Given the description of an element on the screen output the (x, y) to click on. 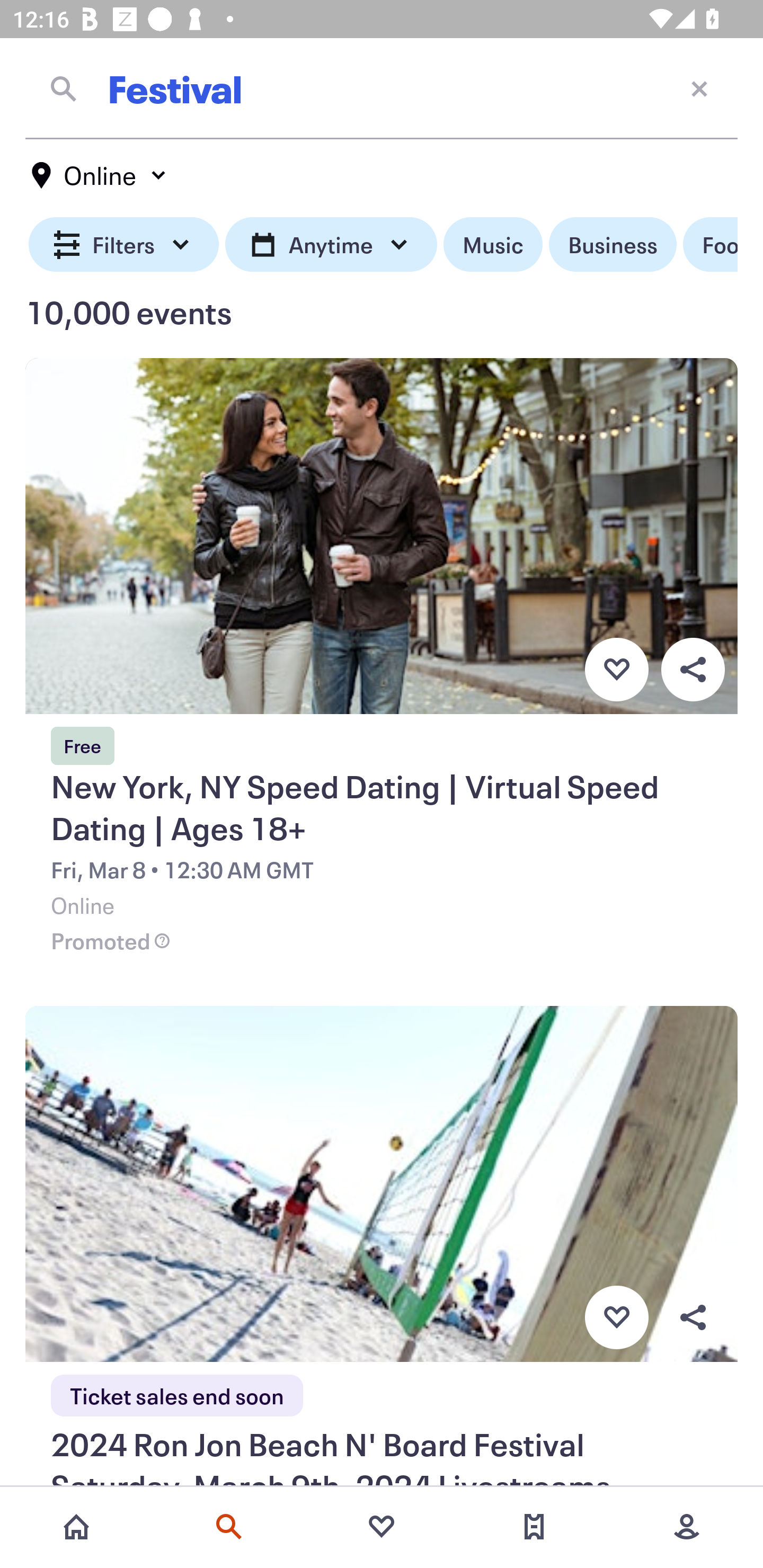
Festival Close current screen (381, 88)
Close current screen (699, 88)
Online (99, 175)
Filters (123, 244)
Anytime (331, 244)
Music (492, 244)
Business (612, 244)
Favorite button (616, 669)
Overflow menu button (692, 669)
Favorite button (616, 1317)
Overflow menu button (692, 1317)
Home (76, 1526)
Search events (228, 1526)
Favorites (381, 1526)
Tickets (533, 1526)
More (686, 1526)
